Given the description of an element on the screen output the (x, y) to click on. 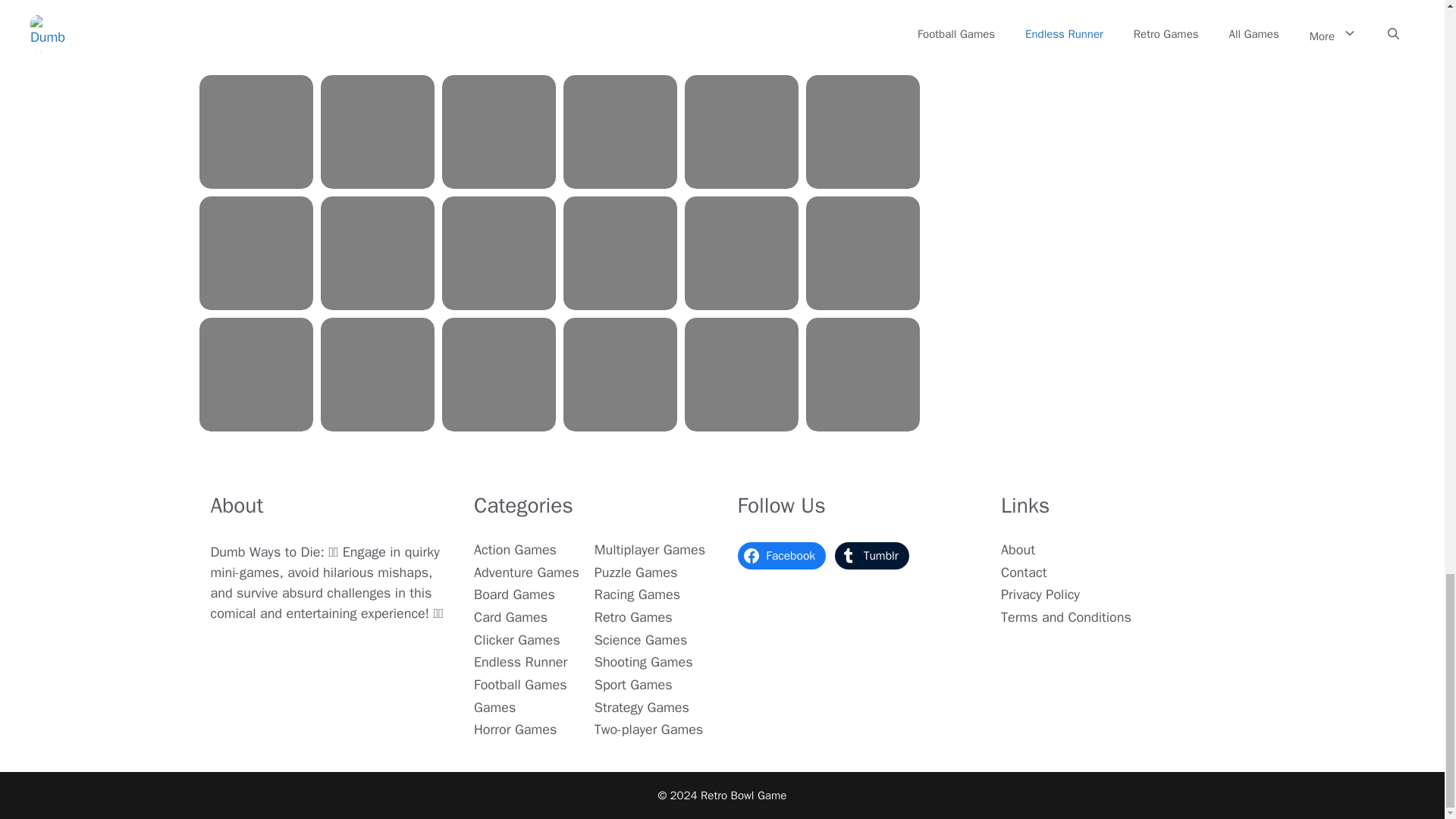
Stunt Simulator Multiplayer (740, 33)
Fireboy And Watergirl 1: Forest Temple (376, 33)
Tunnel Rush (376, 132)
Checkers (499, 33)
Tiny Fishing (256, 33)
Slope Tunnel (256, 132)
Monkey Mart (499, 132)
Smash Karts (620, 33)
